Given the description of an element on the screen output the (x, y) to click on. 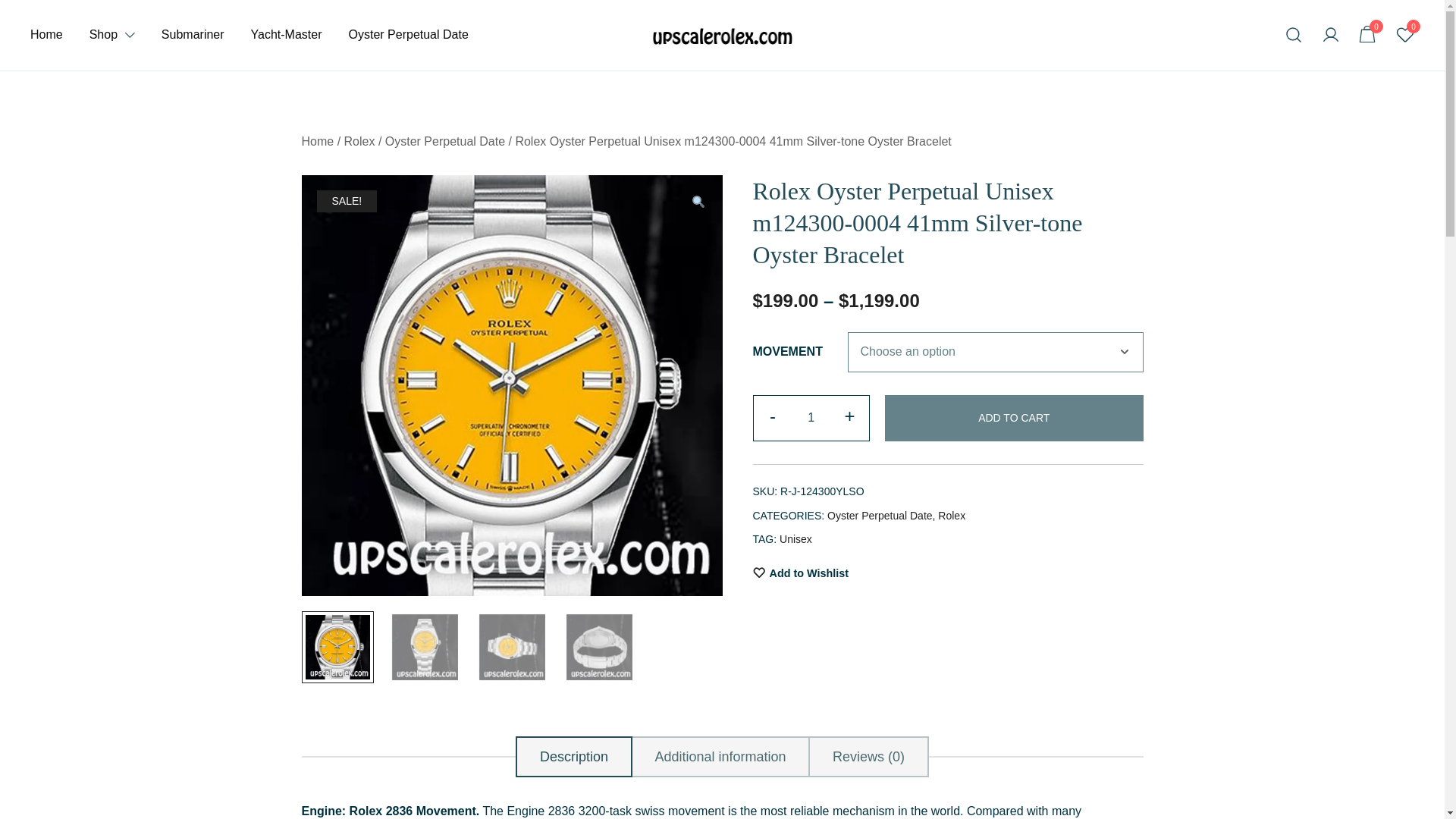
Your wishlist (1404, 34)
Shop (102, 35)
Home (46, 35)
Your account (1330, 34)
Yacht-Master (285, 35)
1 (810, 417)
0 (1404, 34)
0 (1367, 34)
View your shopping cart (1367, 33)
Oyster Perpetual Date (408, 35)
Submariner (192, 35)
0 (1367, 33)
